Given the description of an element on the screen output the (x, y) to click on. 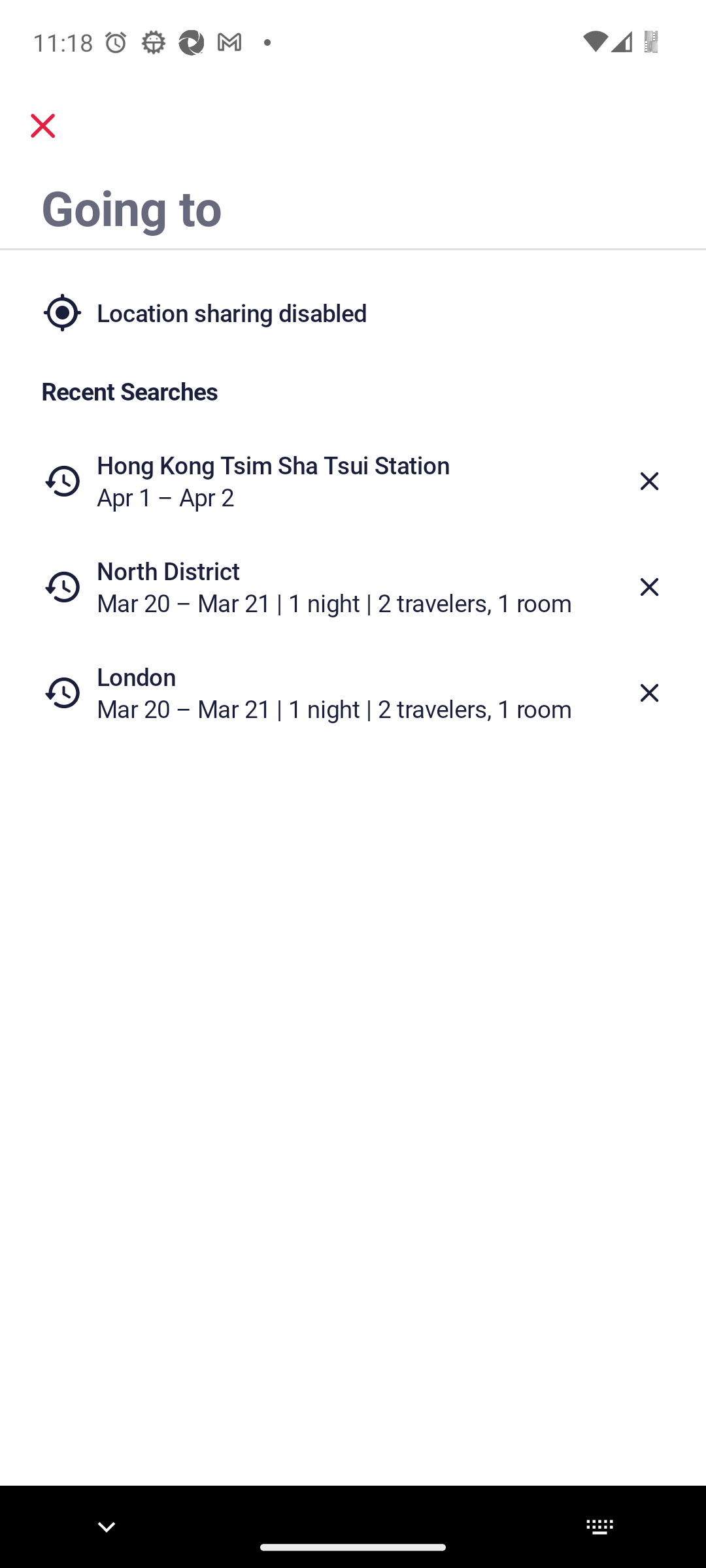
close. (43, 125)
Location sharing disabled (353, 312)
Hong Kong Tsim Sha Tsui Station Apr 1 – Apr 2 (353, 480)
Delete from recent searches (649, 481)
Delete from recent searches (649, 586)
Delete from recent searches (649, 692)
